Given the description of an element on the screen output the (x, y) to click on. 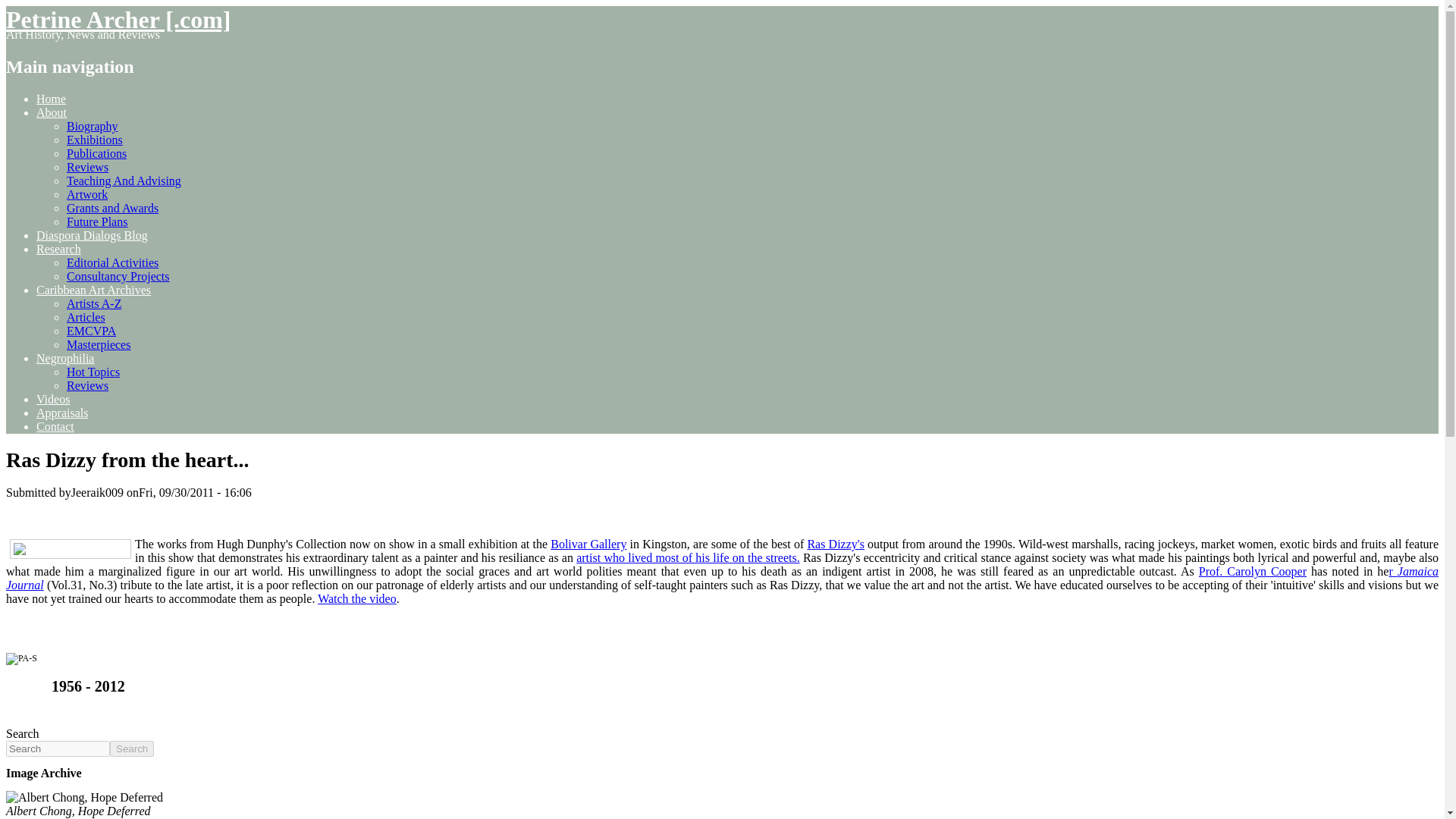
Exhibitions (94, 139)
Reviews (86, 385)
Articles (85, 317)
Teaching And Advising (123, 180)
Videos (52, 399)
Search (132, 748)
Artwork (86, 194)
Artists A-Z (93, 303)
Masterpieces (98, 344)
Consultancy Projects (118, 276)
Editorial Activities (112, 262)
Contact (55, 426)
About (51, 112)
Biography (91, 125)
Reviews (86, 166)
